Given the description of an element on the screen output the (x, y) to click on. 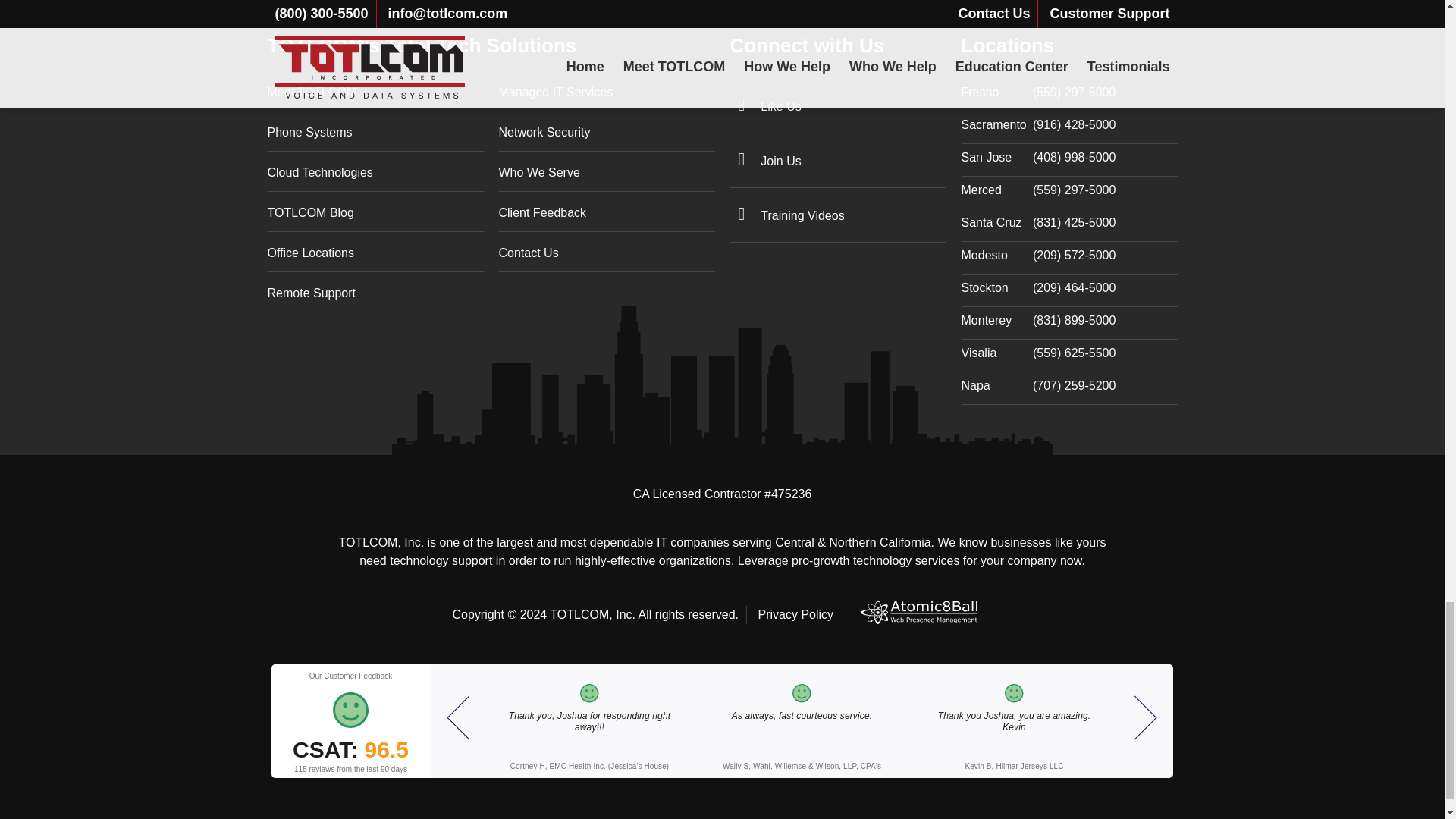
SmileBack (350, 721)
